Given the description of an element on the screen output the (x, y) to click on. 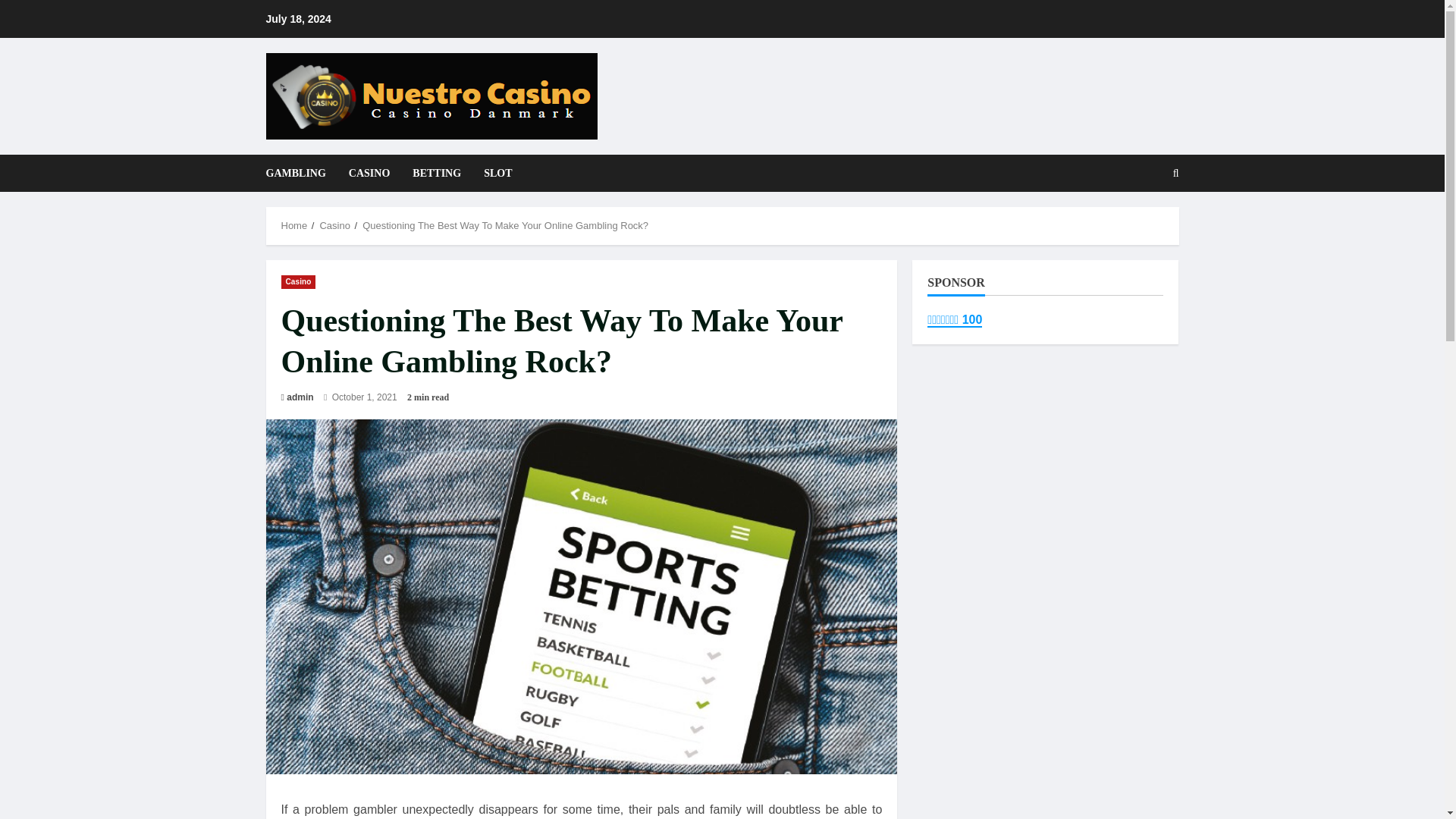
Casino (333, 225)
SLOT (491, 172)
Questioning The Best Way To Make Your Online Gambling Rock? (504, 225)
admin (299, 397)
GAMBLING (300, 172)
BETTING (436, 172)
CASINO (369, 172)
Search (1139, 224)
Casino (298, 281)
Home (294, 225)
